Given the description of an element on the screen output the (x, y) to click on. 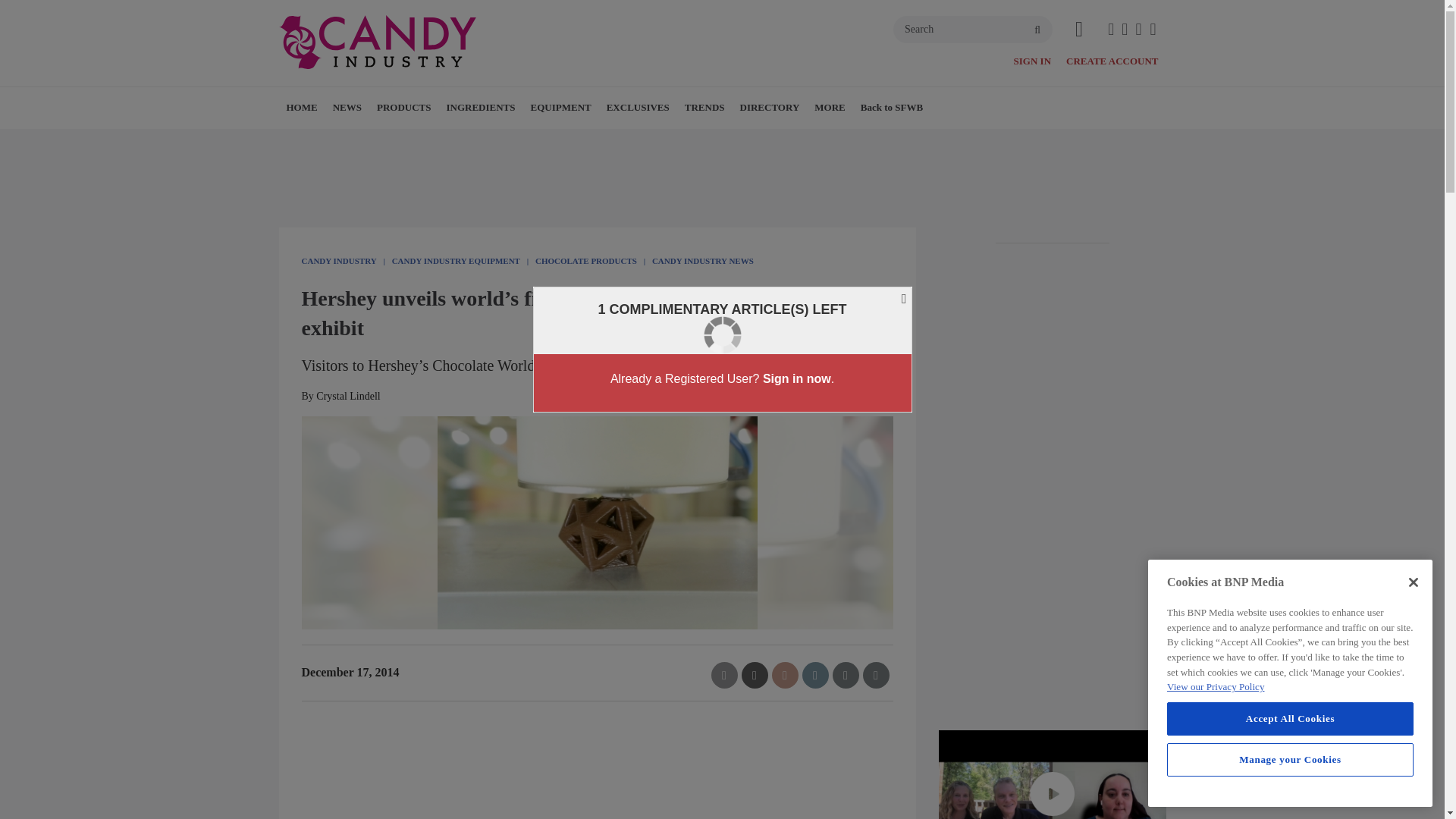
Organic candy trends (1052, 774)
Search (972, 29)
Search (972, 29)
